Given the description of an element on the screen output the (x, y) to click on. 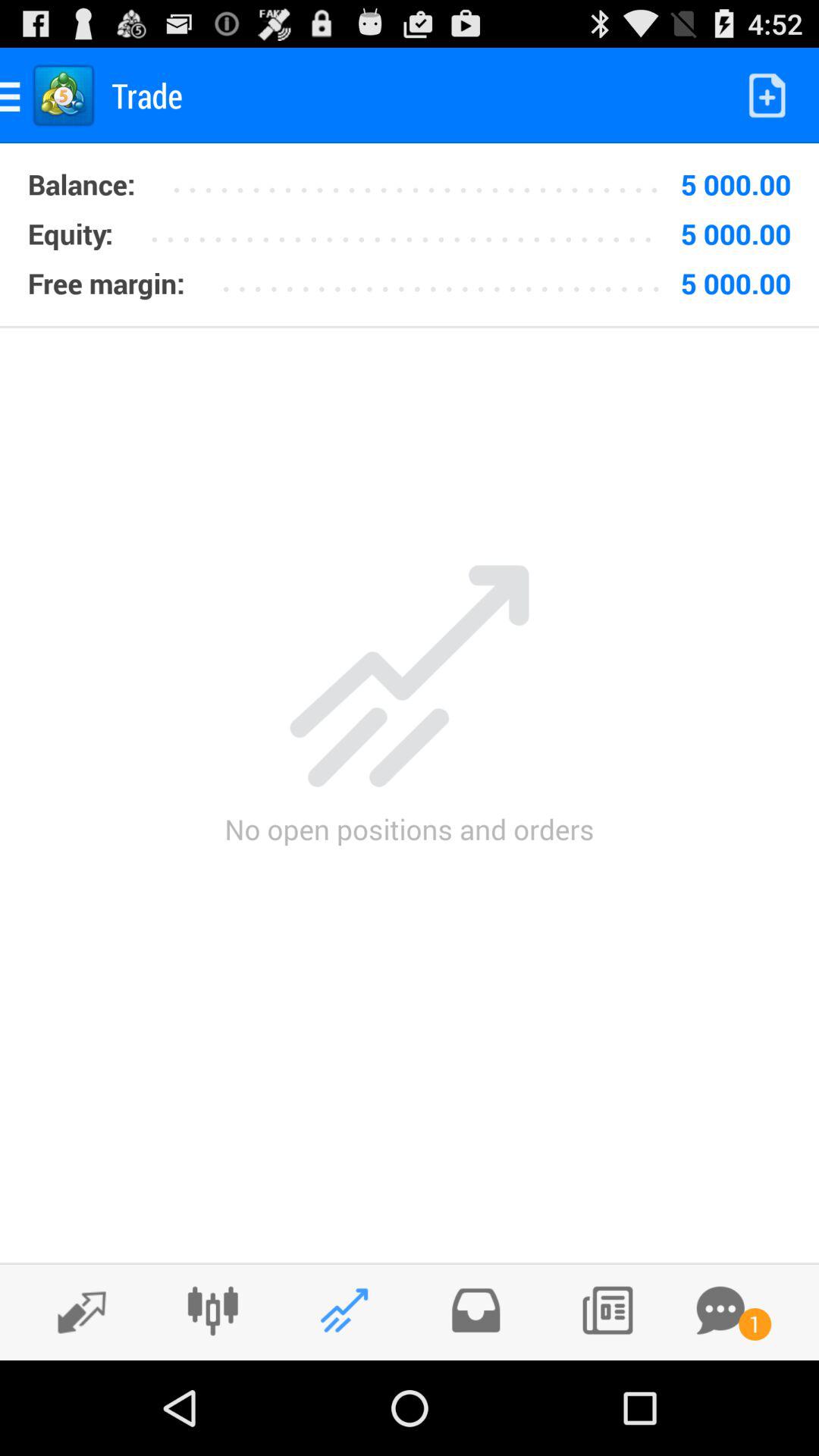
go to messages (720, 1310)
